Given the description of an element on the screen output the (x, y) to click on. 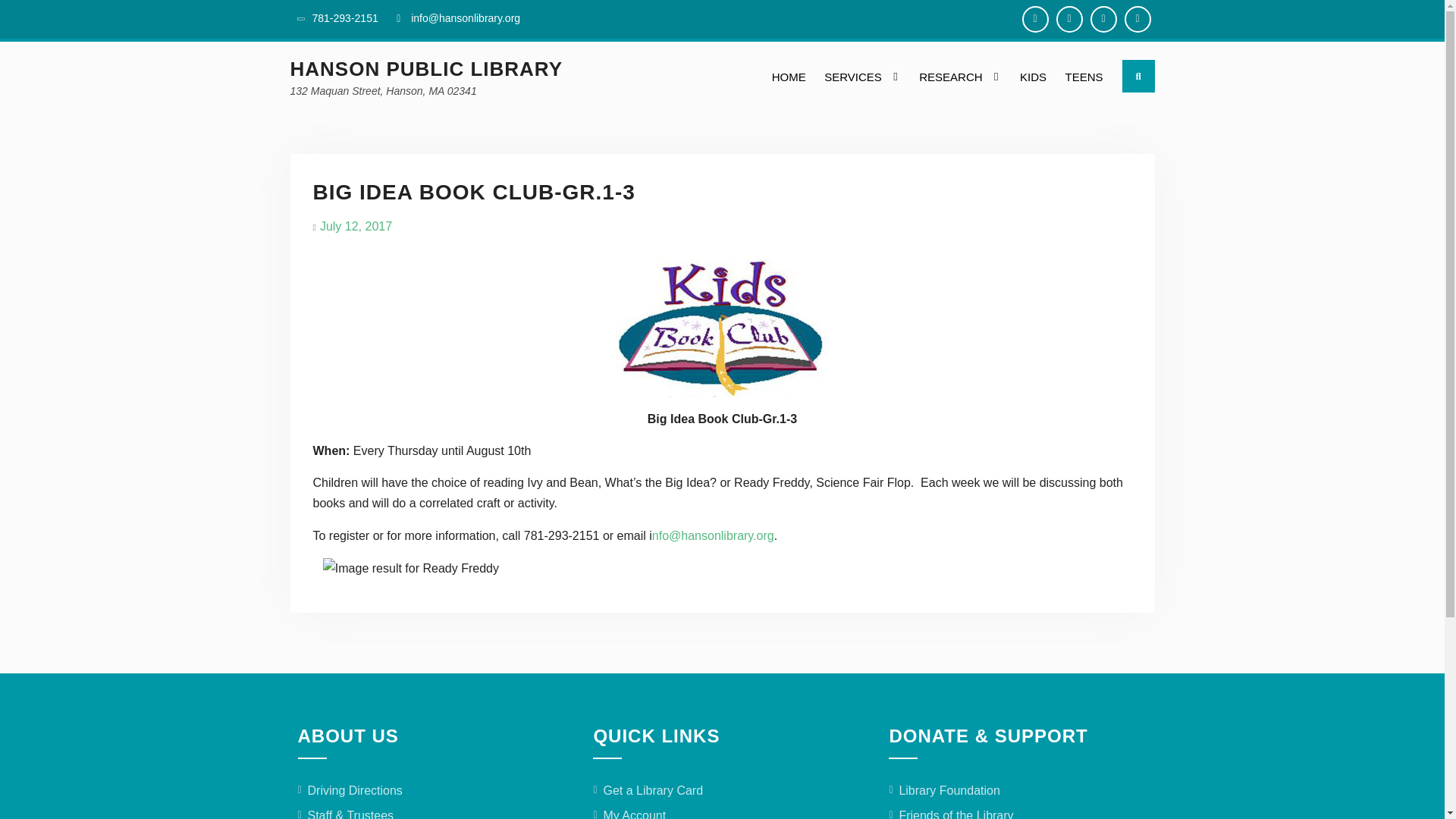
Facebook (1035, 18)
Instagram (1068, 18)
SERVICES (862, 76)
781-293-2151 (345, 18)
HANSON PUBLIC LIBRARY (425, 68)
Pinterest (1103, 18)
HOME (788, 76)
RESEARCH (960, 76)
X (1137, 18)
